Given the description of an element on the screen output the (x, y) to click on. 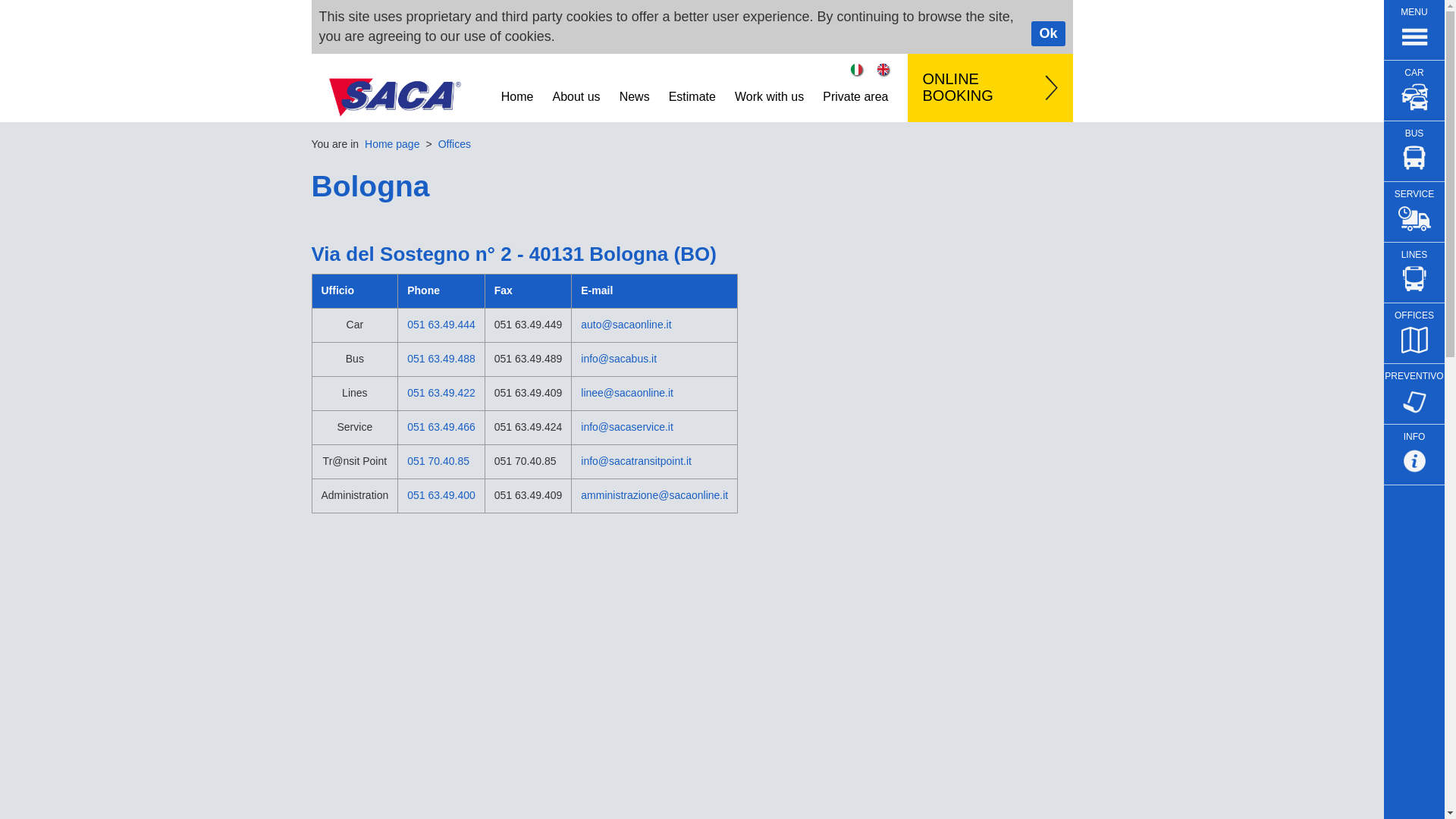
051 63.49.488 (441, 358)
051 63.49.400 (441, 494)
About us (575, 92)
051 63.49.466 (441, 426)
Work with us (769, 92)
051 63.49.422 (441, 392)
Offices (454, 143)
Private area (855, 92)
051 63.49.444 (441, 324)
051 70.40.85 (437, 460)
News (634, 92)
Home (517, 92)
ONLINE BOOKING (989, 88)
Home page (392, 143)
Estimate (692, 92)
